Given the description of an element on the screen output the (x, y) to click on. 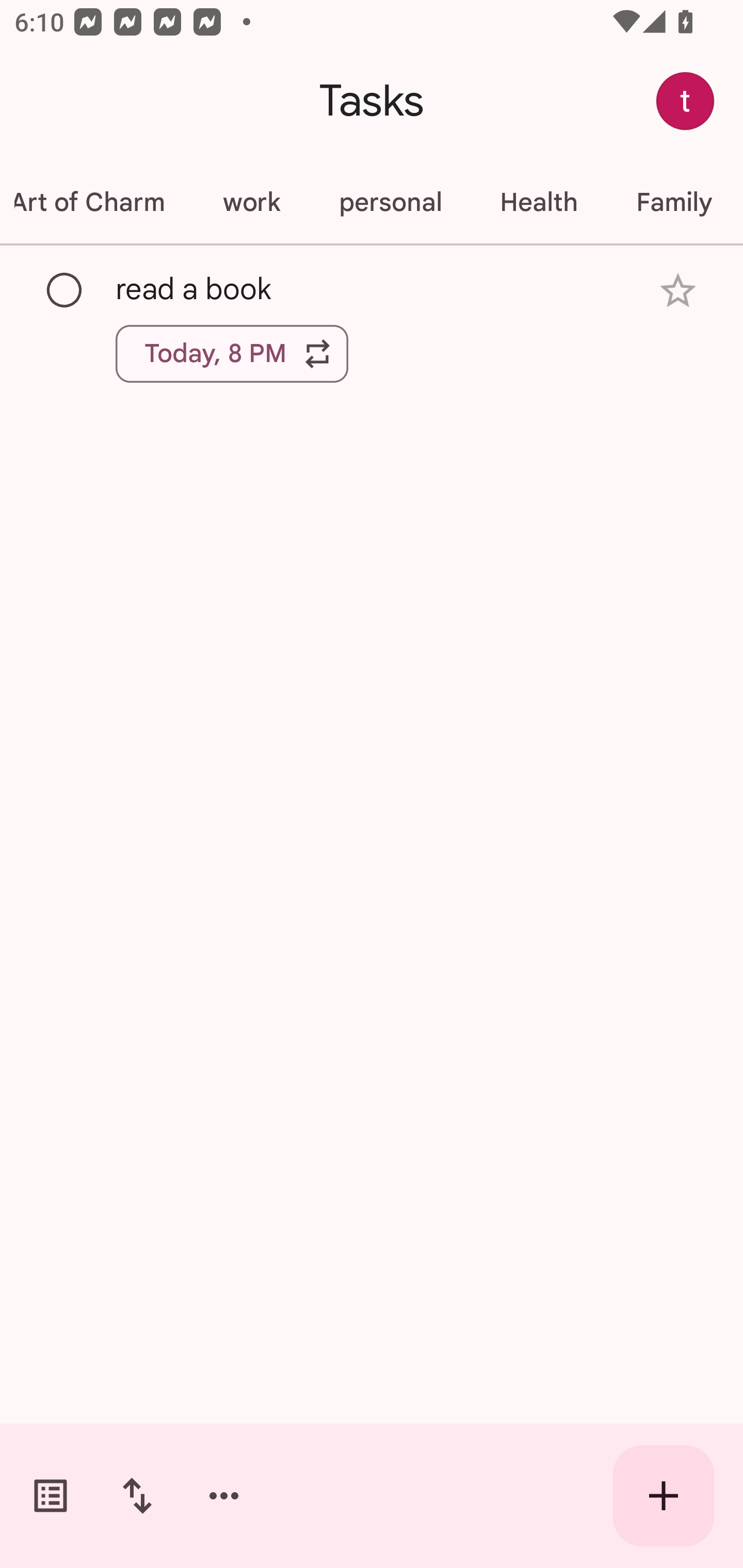
The Art of Charm (96, 202)
work (251, 202)
personal (389, 202)
Health (538, 202)
Family (674, 202)
Add star (677, 290)
Mark as complete (64, 290)
Today, 8 PM (231, 353)
Switch task lists (50, 1495)
Create new task (663, 1495)
Change sort order (136, 1495)
More options (223, 1495)
